Given the description of an element on the screen output the (x, y) to click on. 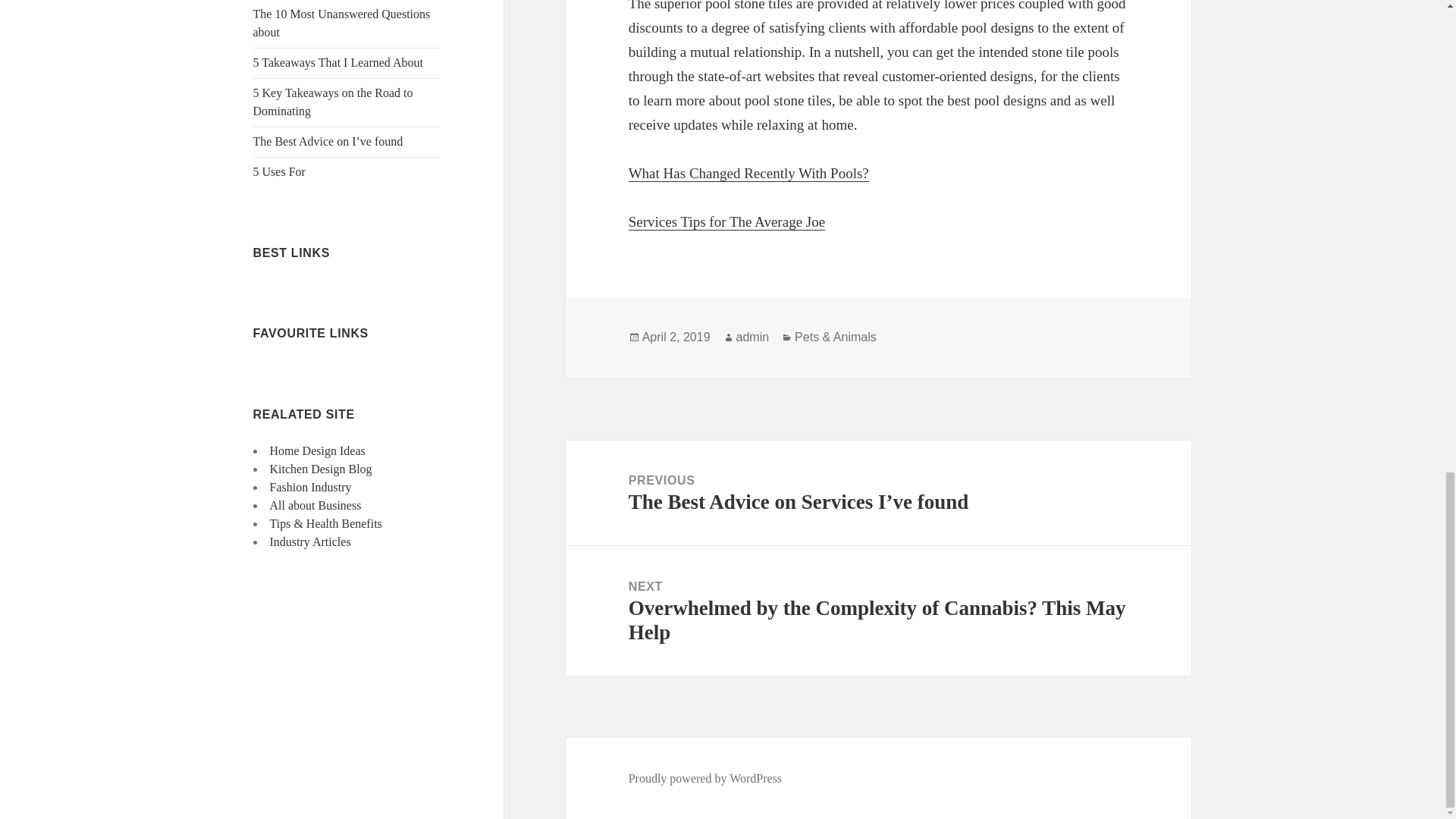
Home Design Ideas (317, 450)
5 Key Takeaways on the Road to Dominating (333, 101)
Fashion Industry (310, 486)
5 Takeaways That I Learned About (338, 62)
Industry Articles (309, 541)
All about Business (315, 504)
Kitchen Design Blog (320, 468)
The 10 Most Unanswered Questions about (341, 22)
5 Uses For (279, 171)
What Has Changed Recently With Pools? (748, 173)
